Given the description of an element on the screen output the (x, y) to click on. 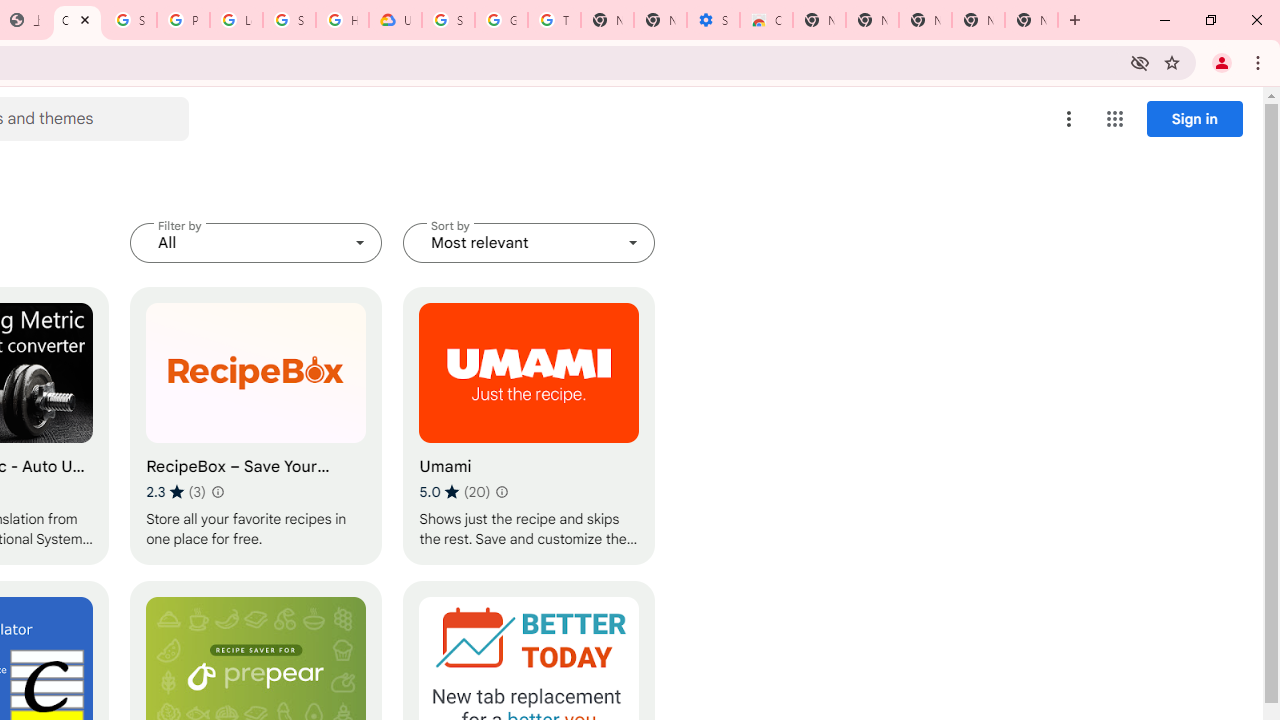
Sign in - Google Accounts (130, 20)
Sign in - Google Accounts (448, 20)
Average rating 2.3 out of 5 stars. 3 ratings. (176, 491)
Average rating 5 out of 5 stars. 20 ratings. (454, 491)
Learn more about results and reviews "Umami" (502, 491)
Chrome Web Store - Accessibility extensions (766, 20)
More options menu (1069, 118)
Filter by All (256, 242)
Chrome Web Store - Household (77, 20)
